Given the description of an element on the screen output the (x, y) to click on. 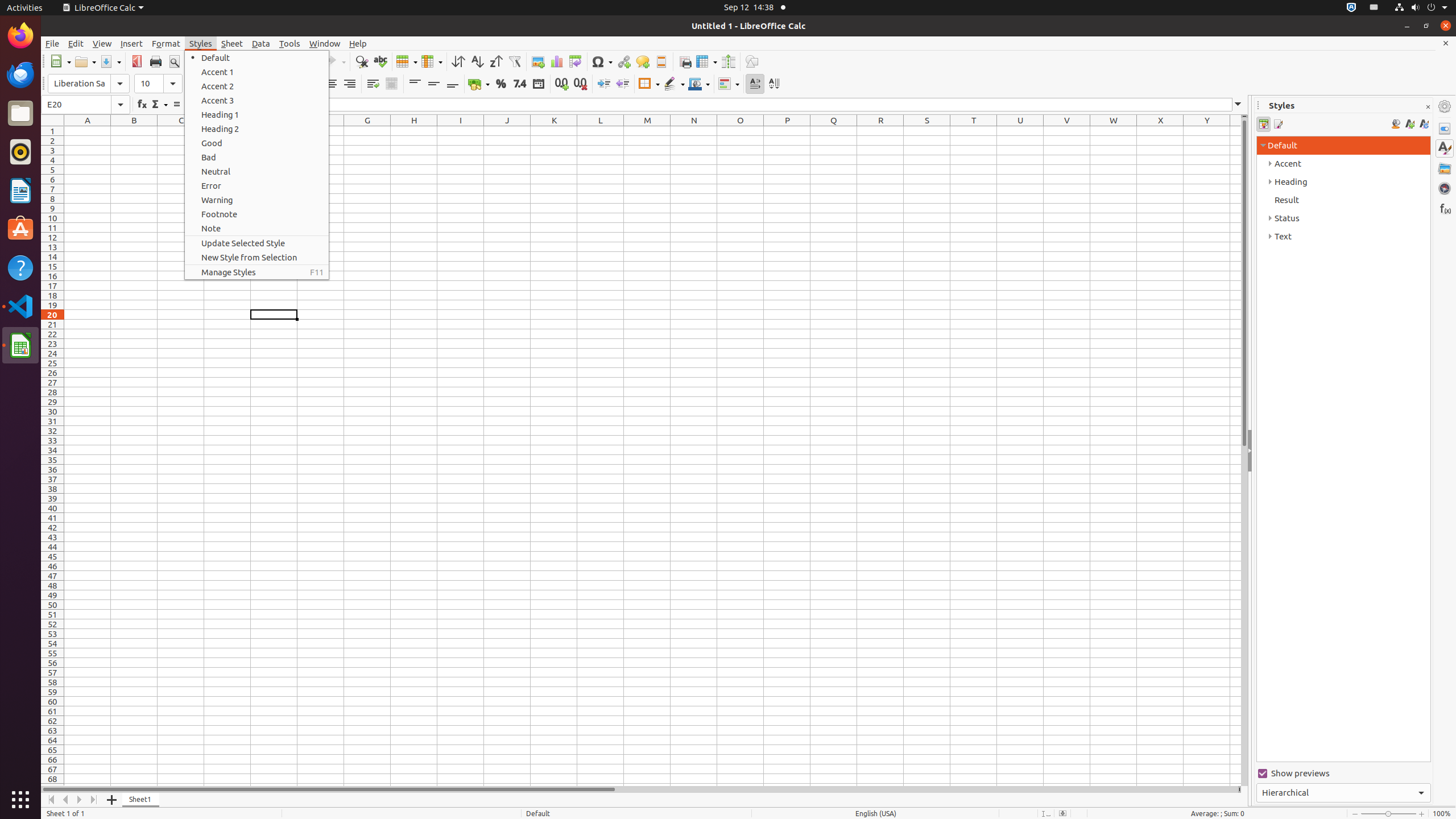
R1 Element type: table-cell (880, 130)
T1 Element type: table-cell (973, 130)
Decrease Element type: push-button (622, 83)
Percent Element type: push-button (500, 83)
Spelling Element type: push-button (379, 61)
